Given the description of an element on the screen output the (x, y) to click on. 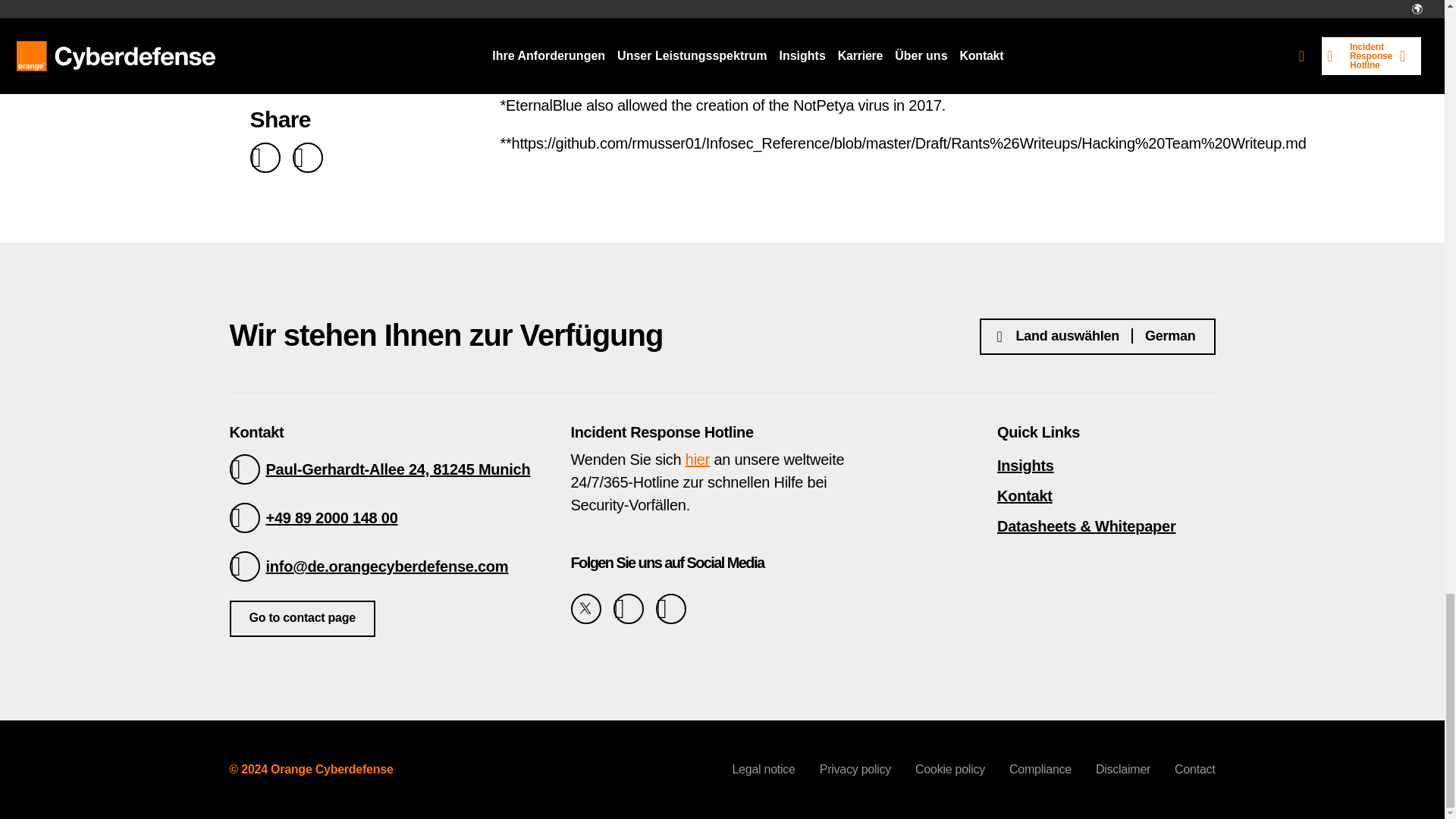
Kontakt (1106, 495)
Zur Kontaktseite (301, 618)
Insights (1106, 465)
